Given the description of an element on the screen output the (x, y) to click on. 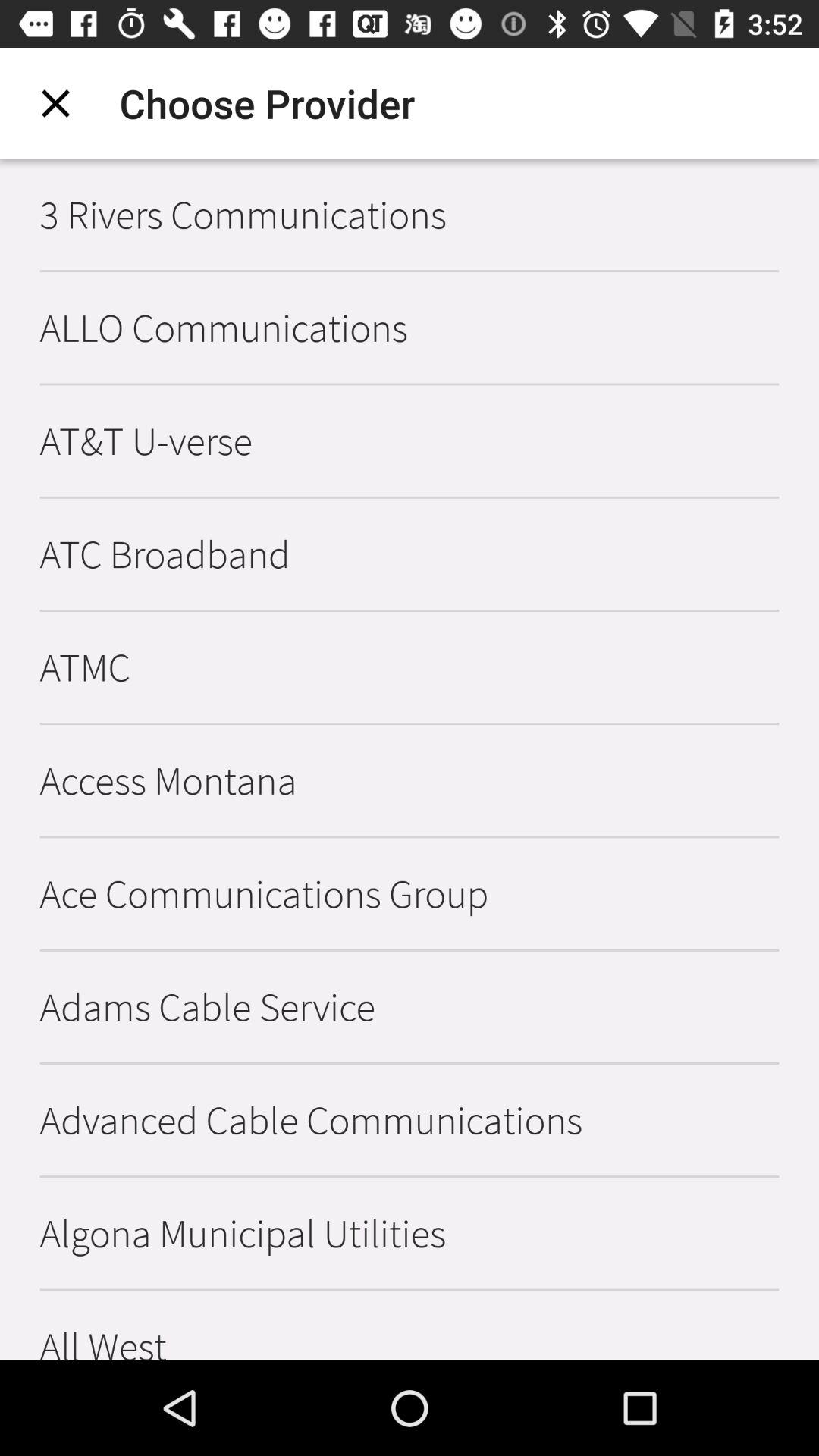
choose item next to choose provider item (55, 103)
